Given the description of an element on the screen output the (x, y) to click on. 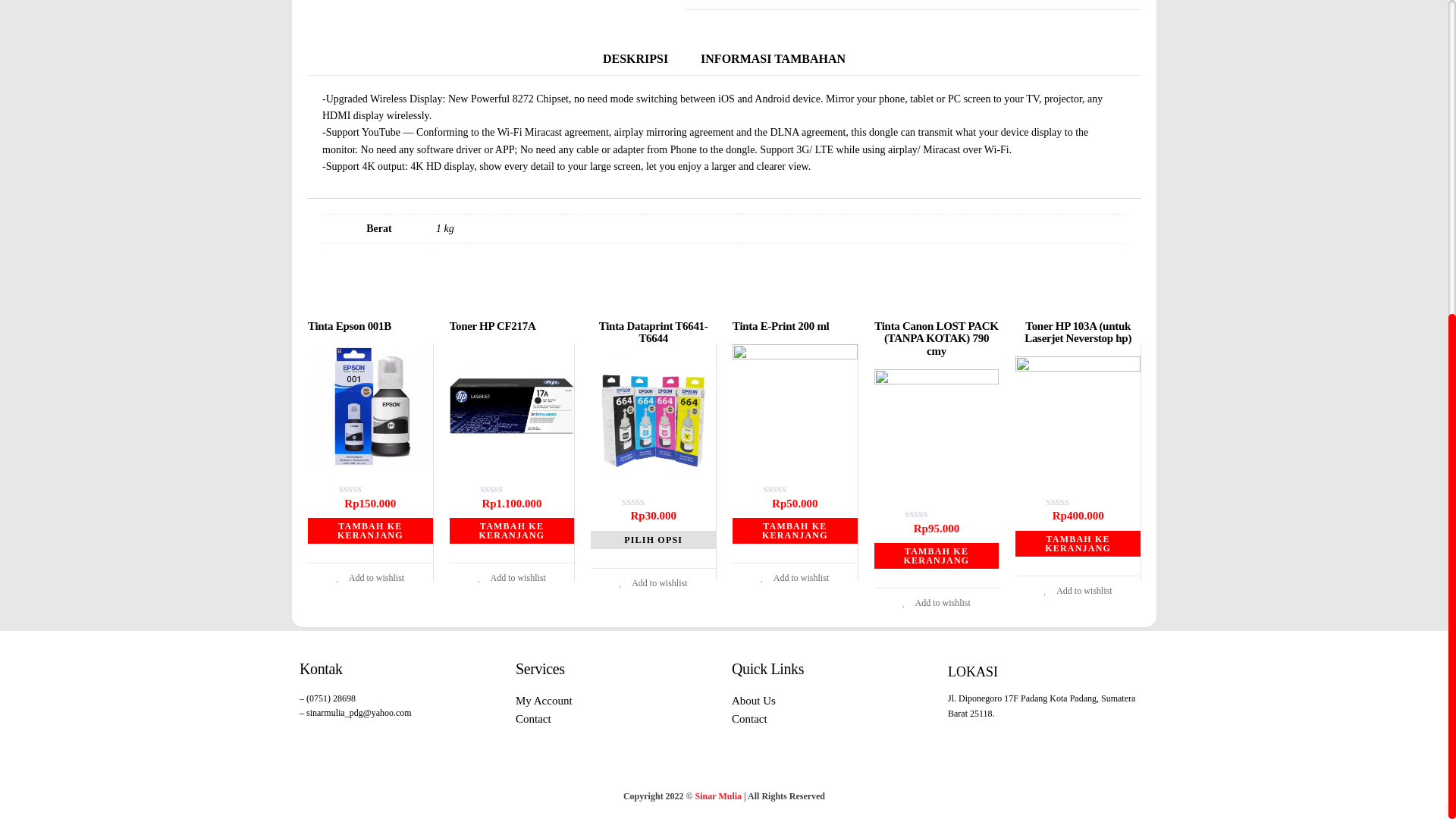
Add to wishlist (794, 577)
TAMBAH KE KERANJANG (512, 530)
TAMBAH KE KERANJANG (794, 530)
INFORMASI TAMBAHAN (772, 59)
Add to wishlist (370, 577)
Add to wishlist (653, 583)
PILIH OPSI (653, 539)
Add to wishlist (511, 577)
TAMBAH KE KERANJANG (369, 530)
DESKRIPSI (635, 59)
